Given the description of an element on the screen output the (x, y) to click on. 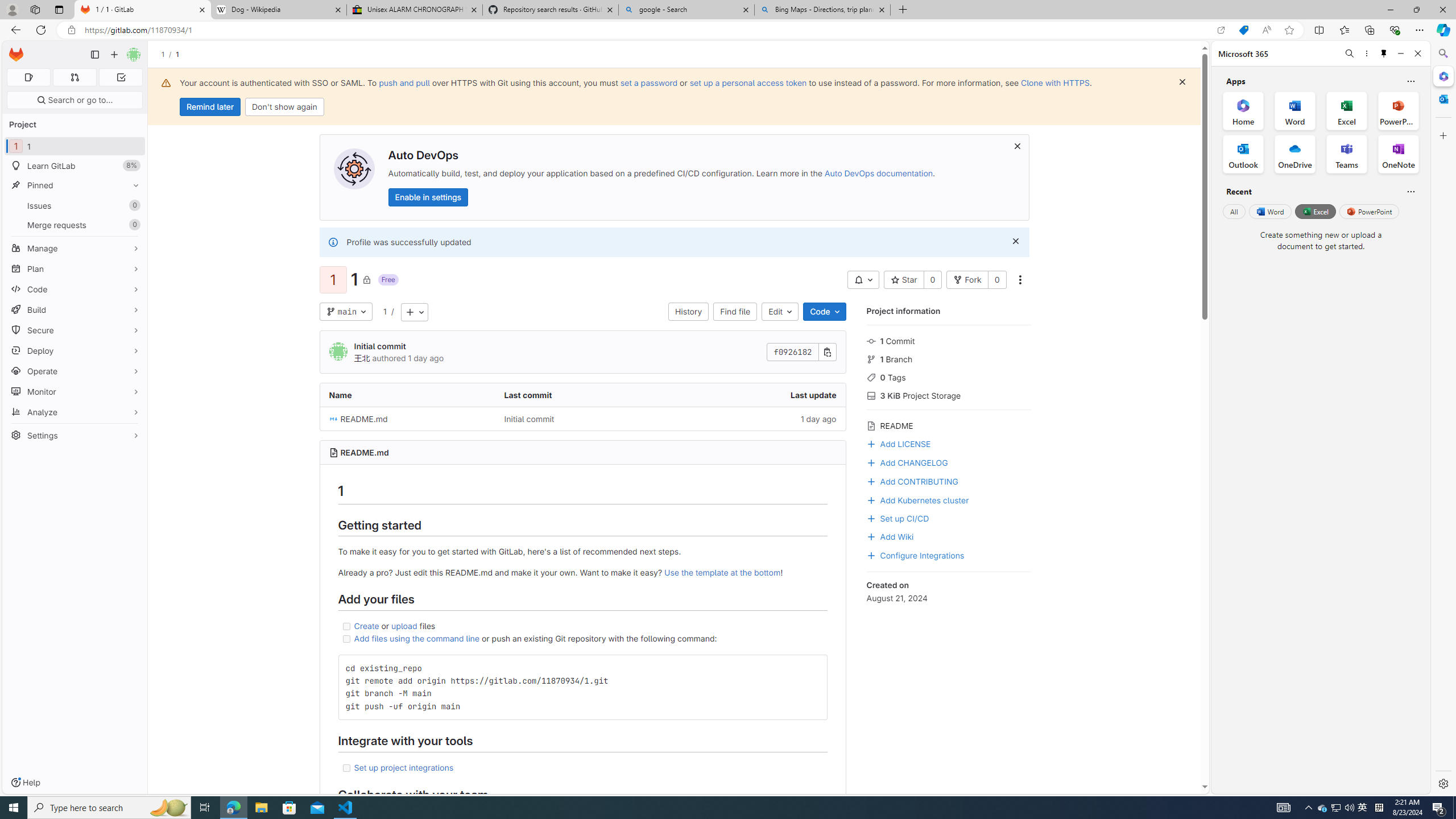
Configure Integrations (948, 554)
0 (996, 280)
More options (1366, 53)
Outlook (1442, 98)
Address and search bar (647, 29)
1 Branch (948, 358)
Open in app (1220, 29)
Copilot (Ctrl+Shift+.) (1442, 29)
Add files using the command line (416, 638)
Add Wiki (948, 535)
Operate (74, 370)
Monitor (74, 391)
Customize (1442, 135)
Class: s16 icon gl-mr-3 gl-text-gray-500 (871, 425)
